Given the description of an element on the screen output the (x, y) to click on. 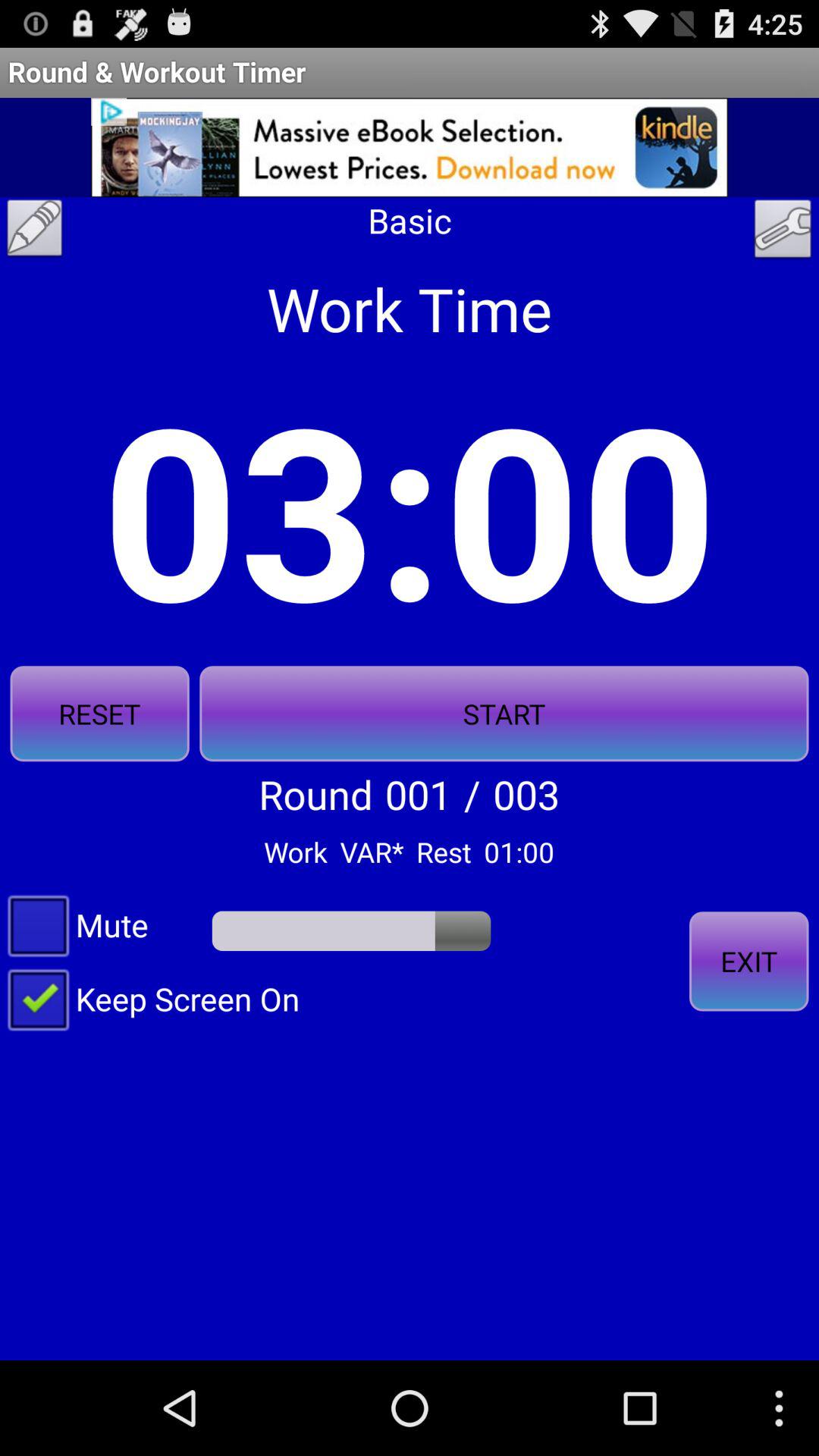
select mute  icon (78, 924)
